Given the description of an element on the screen output the (x, y) to click on. 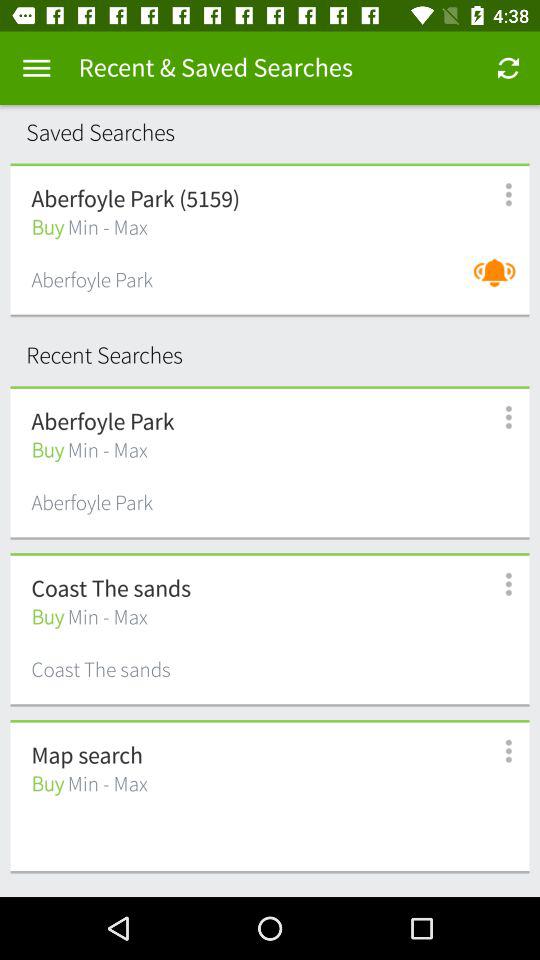
more information (497, 584)
